Given the description of an element on the screen output the (x, y) to click on. 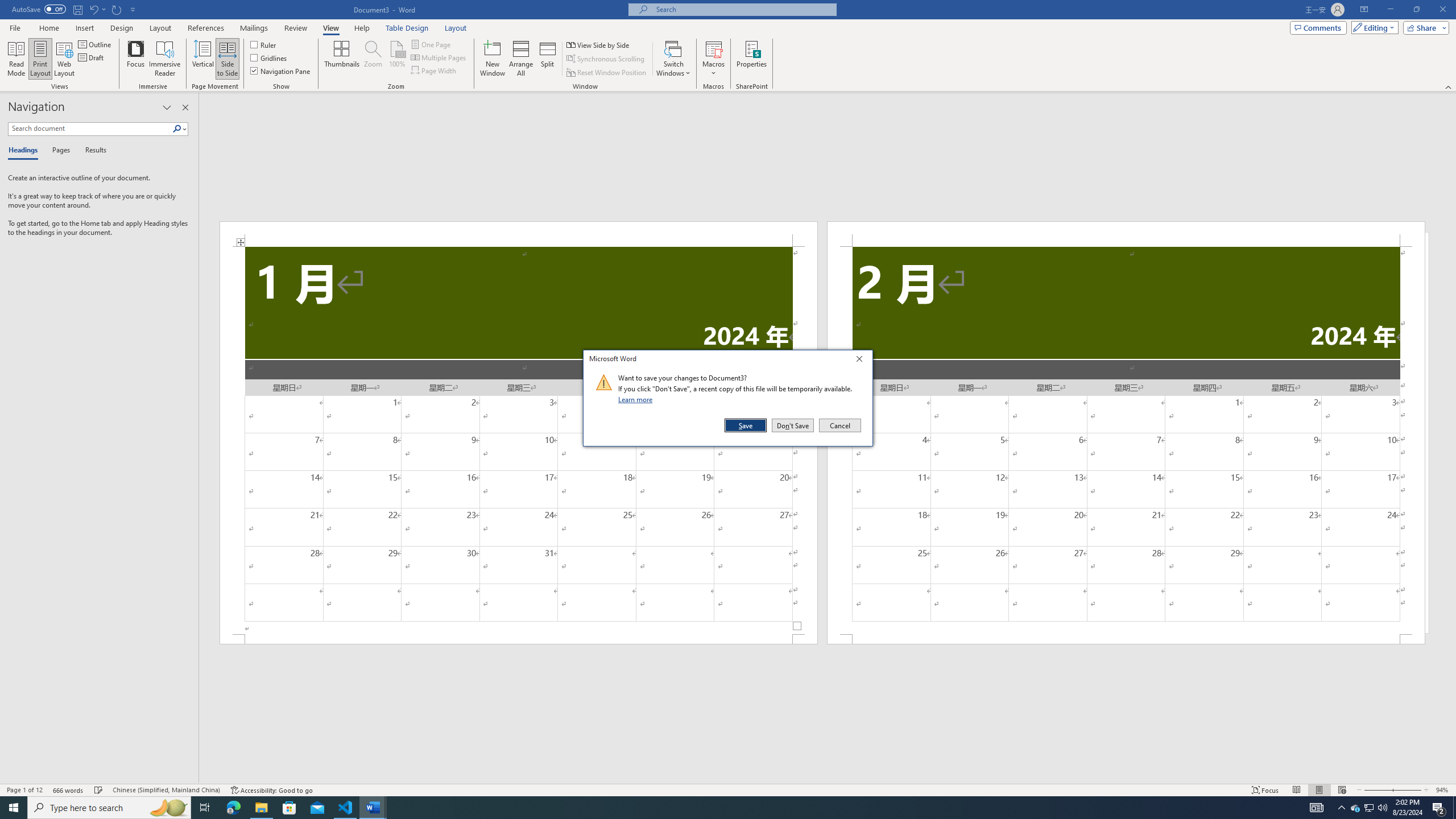
Microsoft Edge (233, 807)
Ruler (263, 44)
Visual Studio Code - 1 running window (345, 807)
Headings (25, 150)
Notification Chevron (1341, 807)
Vertical (202, 58)
Microsoft Store (289, 807)
Navigation Pane (281, 69)
Start (13, 807)
Gridlines (269, 56)
Page Number Page 1 of 12 (24, 790)
